Given the description of an element on the screen output the (x, y) to click on. 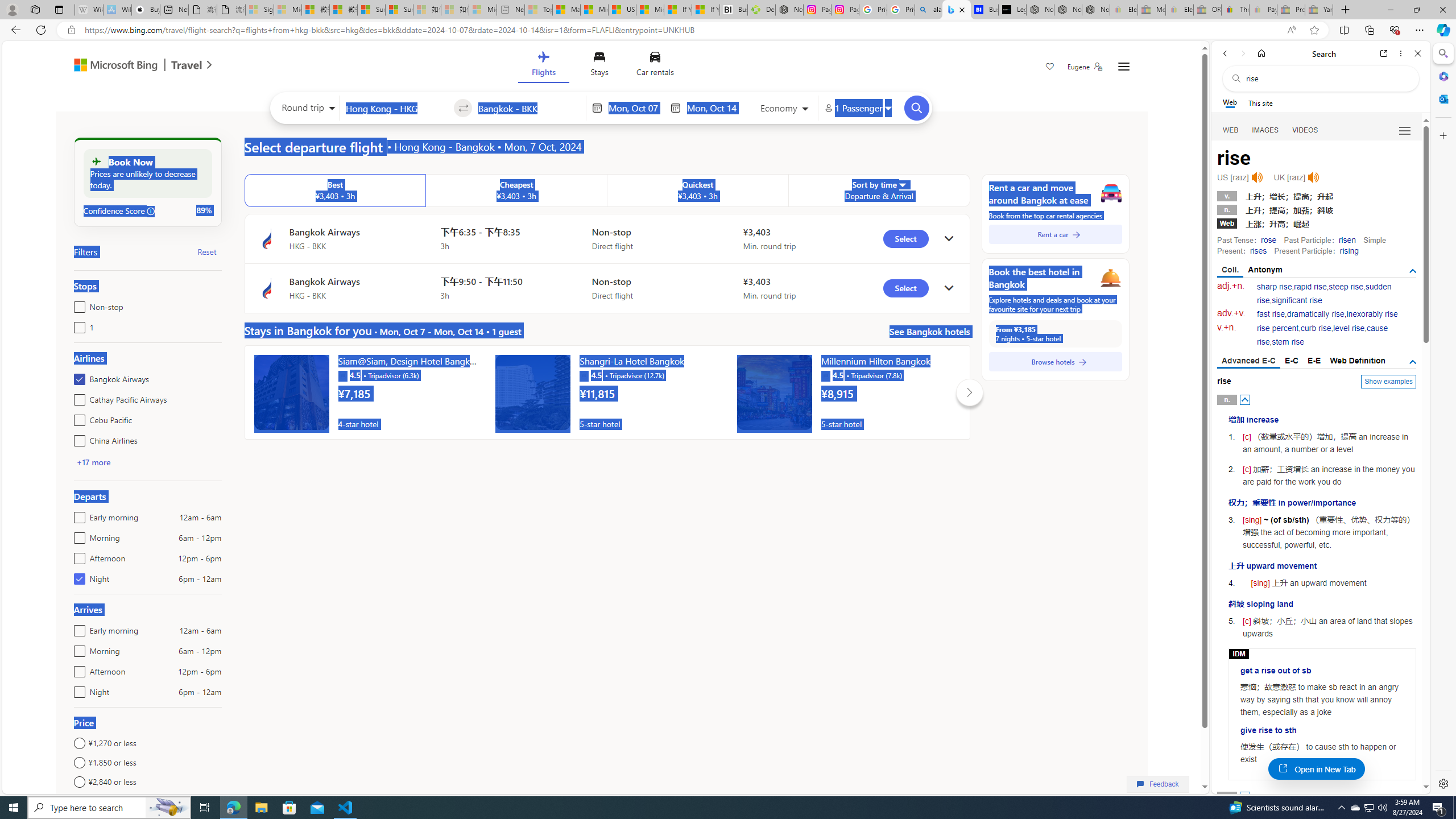
Start Date (636, 107)
Going to? (528, 107)
Reset (206, 251)
E-E (1314, 360)
Payments Terms of Use | eBay.com - Sleeping (1262, 9)
WEB (1231, 130)
rising (1348, 250)
Search Filter, VIDEOS (1304, 129)
rises (1257, 250)
significant rise (1296, 300)
Press Room - eBay Inc. - Sleeping (1291, 9)
